Given the description of an element on the screen output the (x, y) to click on. 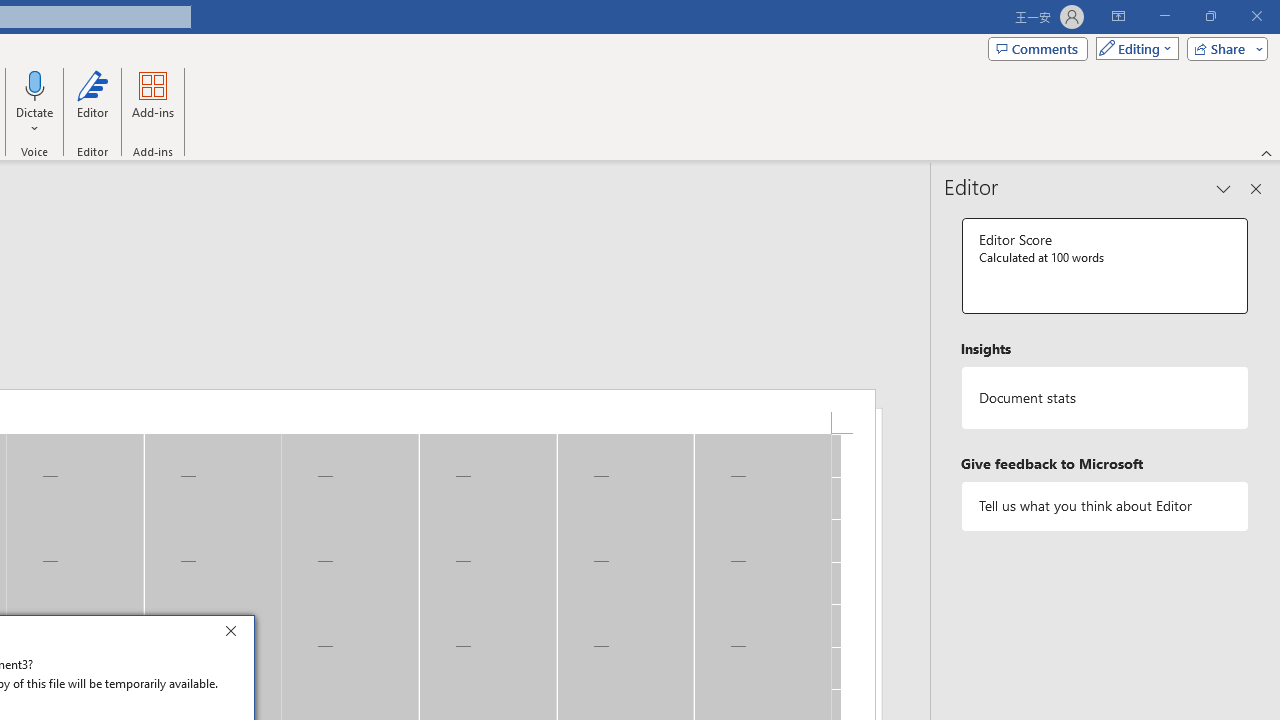
Document statistics (1105, 398)
Mode (1133, 47)
Dictate (35, 84)
